Given the description of an element on the screen output the (x, y) to click on. 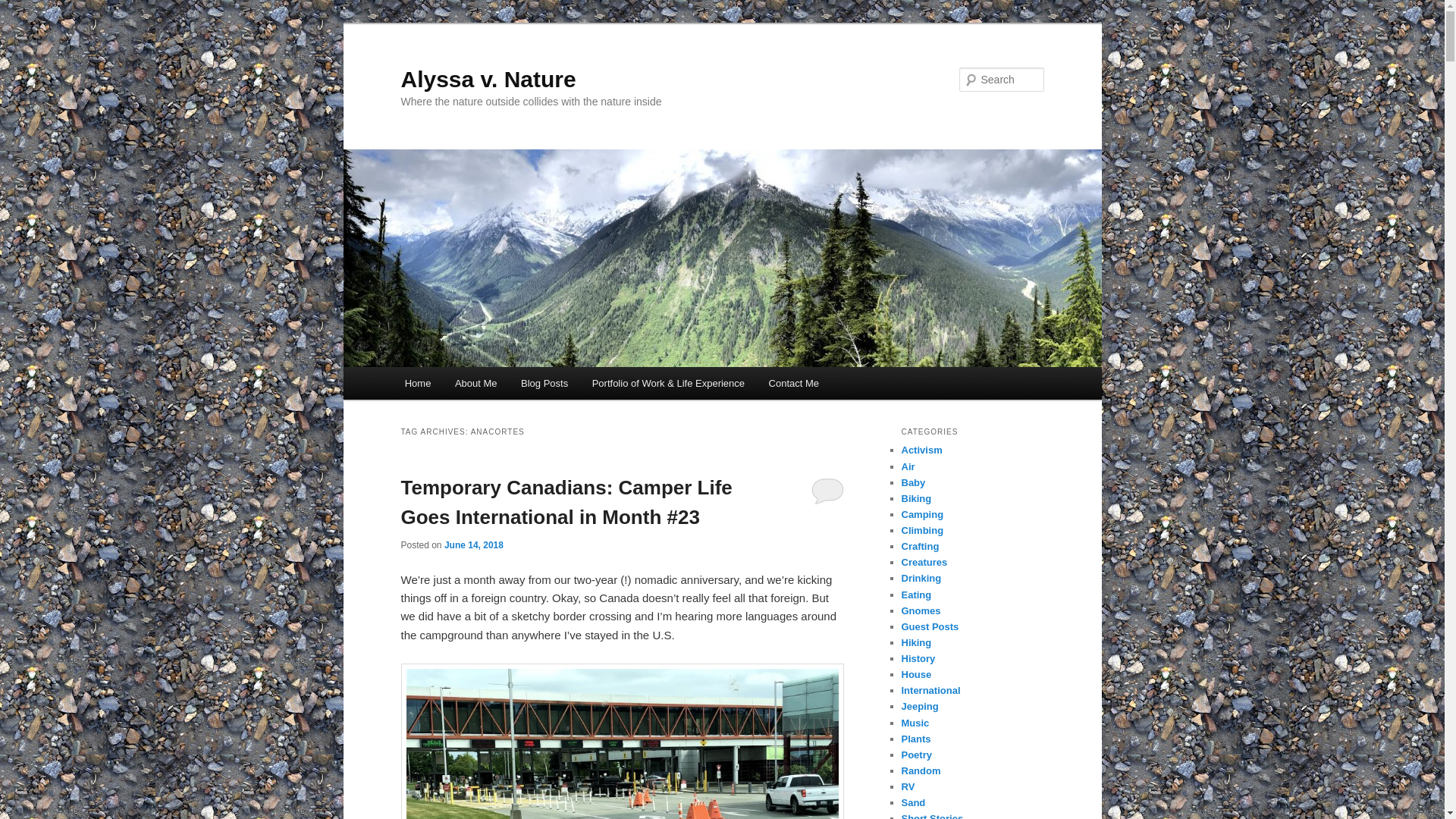
Blog Posts (543, 382)
About Me (475, 382)
1:05 pm (473, 544)
Contact Me (794, 382)
Search (24, 8)
Home (417, 382)
June 14, 2018 (473, 544)
Alyssa v. Nature (487, 78)
